Given the description of an element on the screen output the (x, y) to click on. 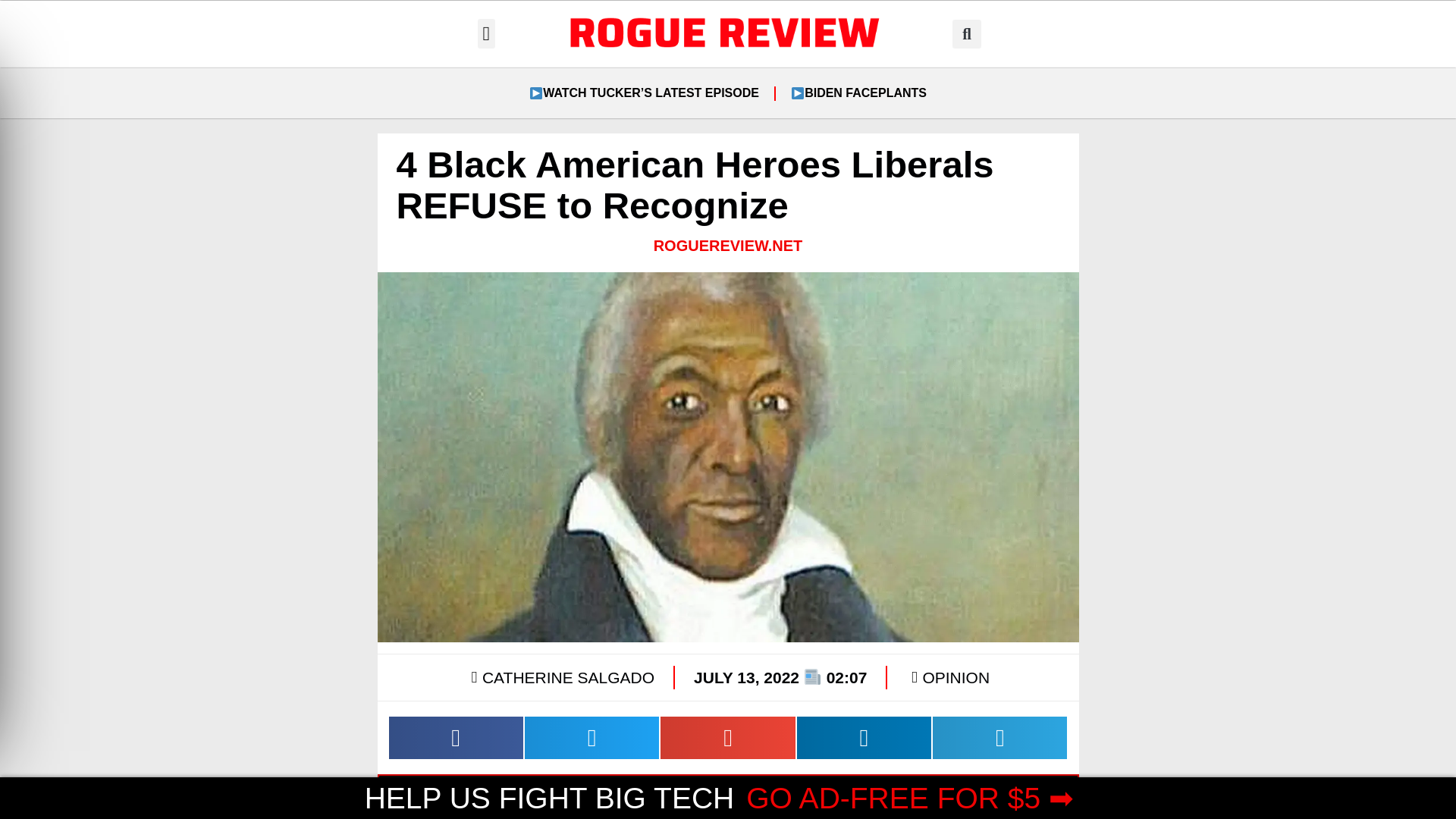
BIDEN FACEPLANTS (859, 93)
OPINION (955, 677)
CATHERINE SALGADO (559, 677)
